Given the description of an element on the screen output the (x, y) to click on. 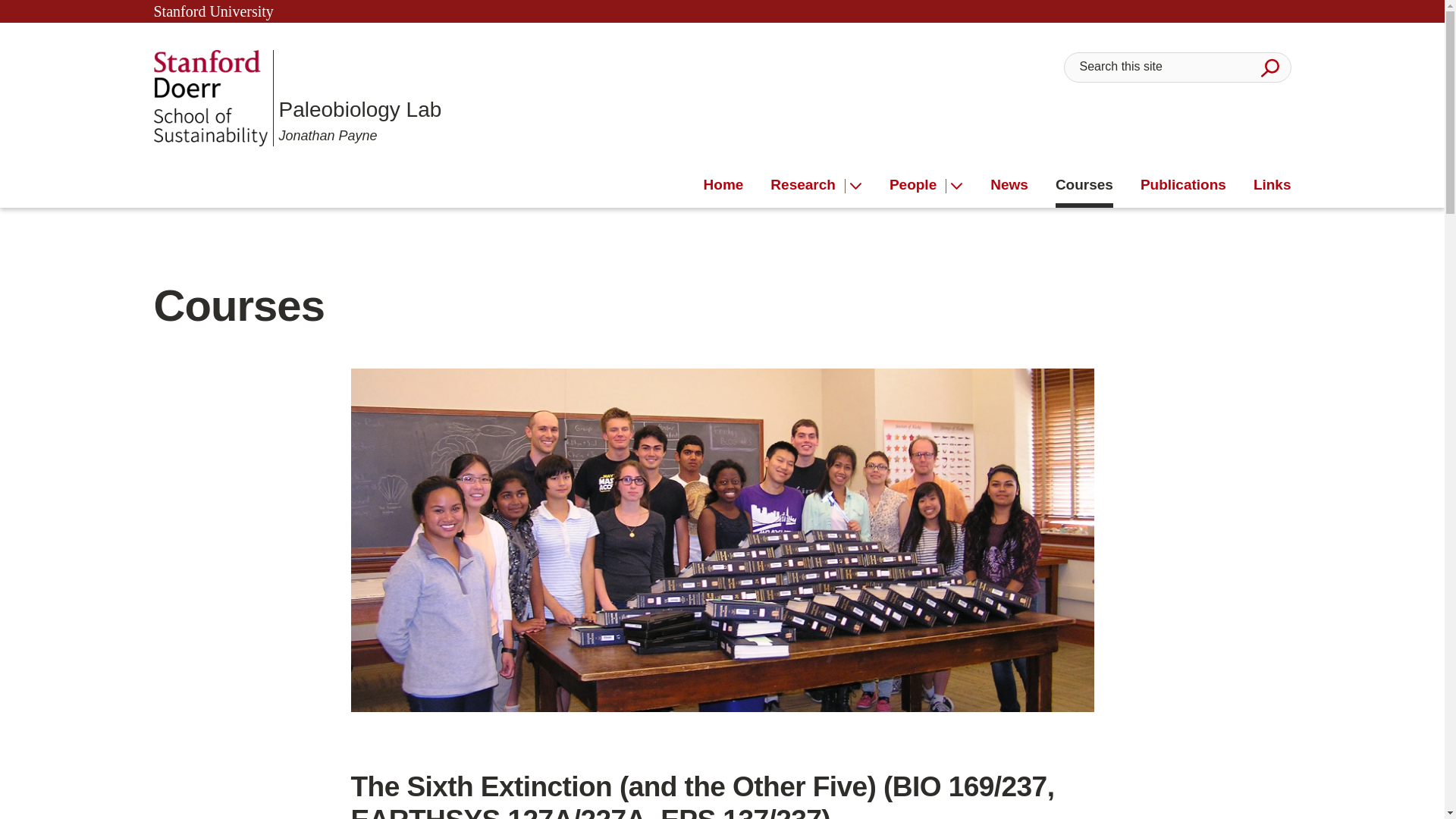
Publications (1182, 185)
A listing of people types (917, 185)
People (917, 185)
Courses (1084, 185)
Research (807, 185)
Submit Search (1269, 67)
Home (723, 185)
